Given the description of an element on the screen output the (x, y) to click on. 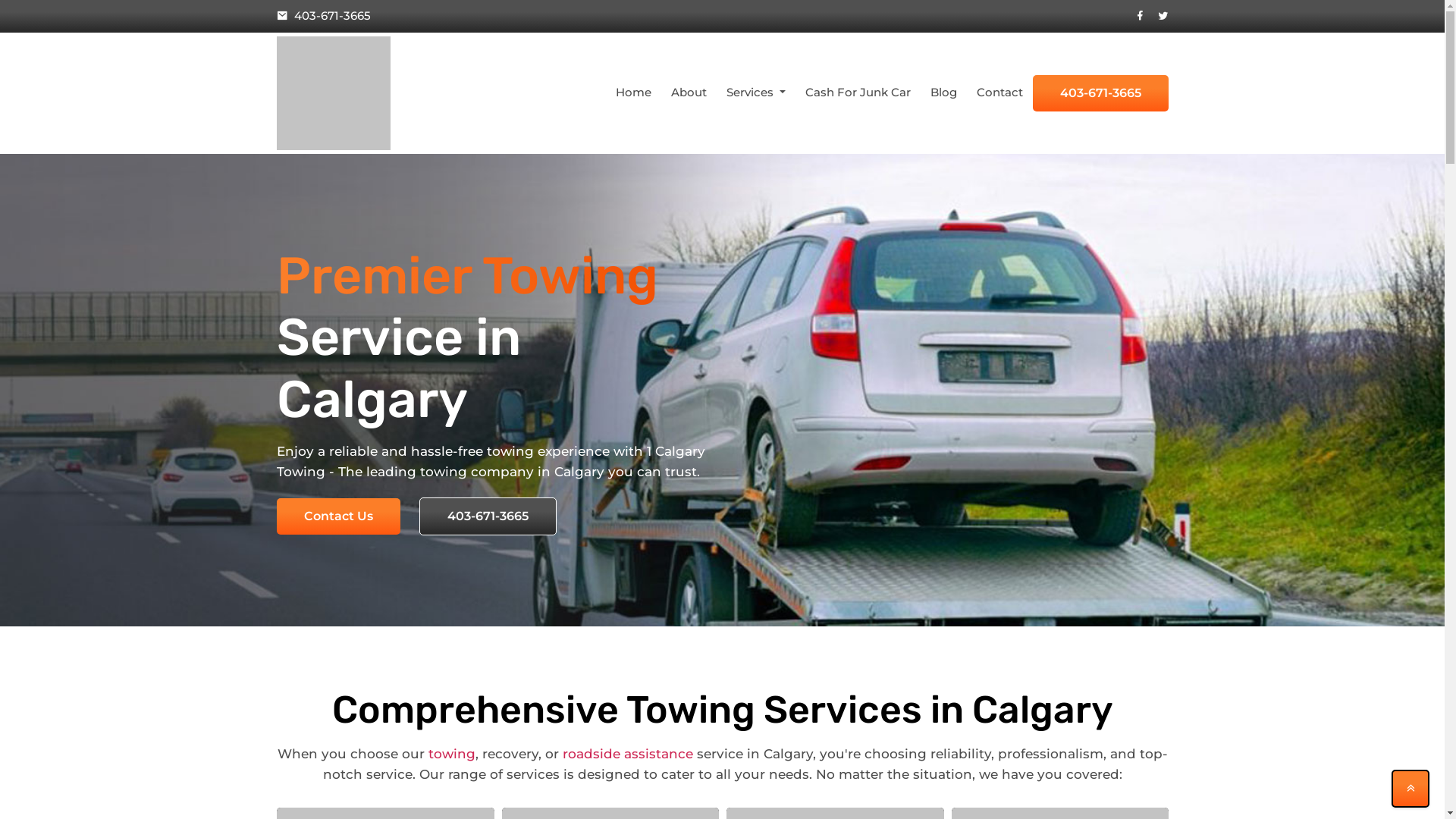
403-671-3665 Element type: text (1100, 92)
Home Element type: text (633, 92)
Blog Element type: text (943, 92)
towing Element type: text (450, 753)
Contact Element type: text (999, 92)
403-671-3665 Element type: text (495, 16)
403-671-3665 Element type: text (486, 516)
Services Element type: text (755, 92)
Cash For Junk Car Element type: text (856, 92)
roadside assistance Element type: text (627, 753)
About Element type: text (688, 92)
Contact Us Element type: text (337, 516)
